Given the description of an element on the screen output the (x, y) to click on. 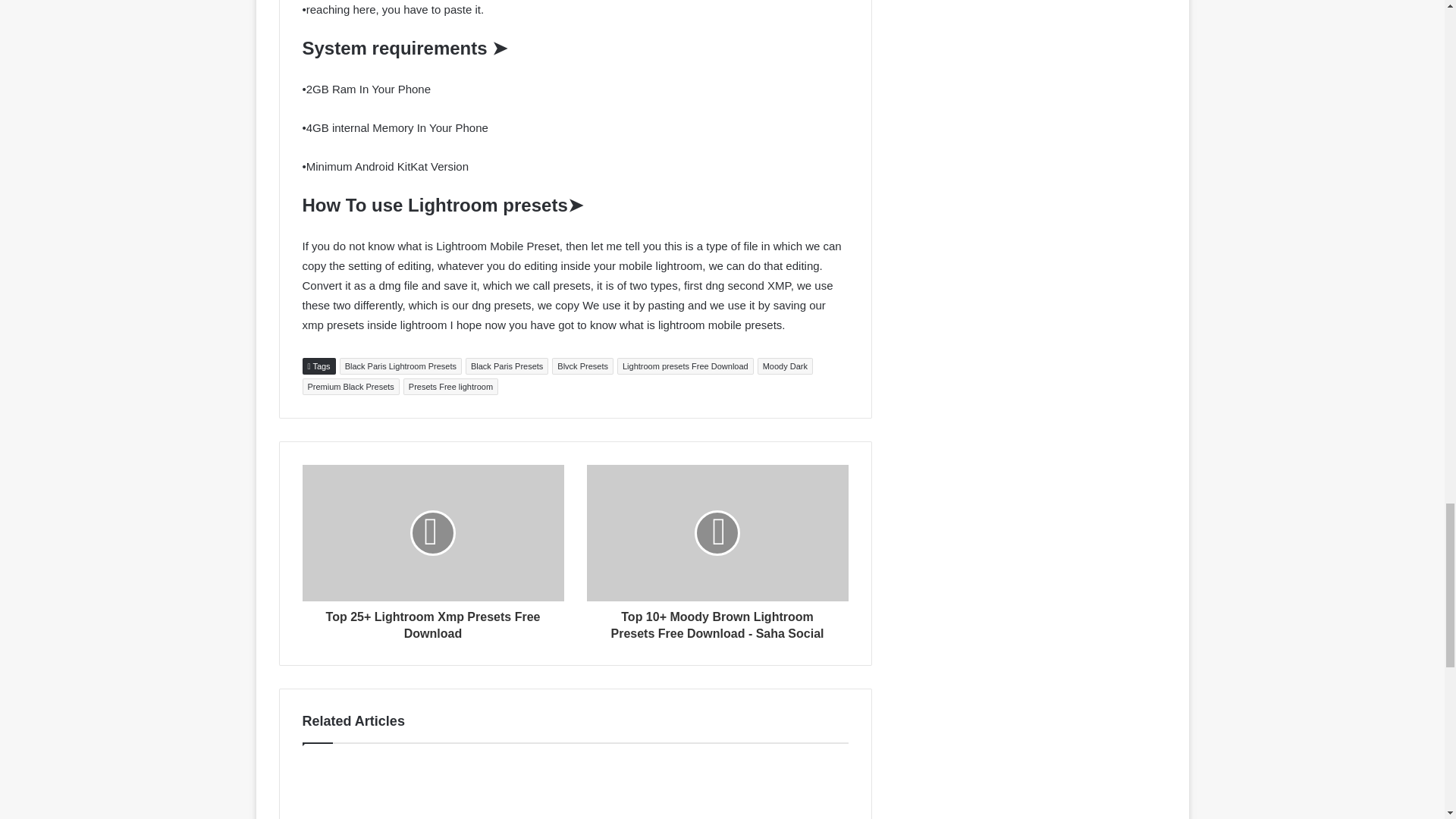
Lightroom presets Free Download (685, 365)
Premium Black Presets (349, 386)
Black Paris Lightroom Presets (400, 365)
Moody Dark (784, 365)
Blvck Presets (581, 365)
Black Paris Presets (506, 365)
